Given the description of an element on the screen output the (x, y) to click on. 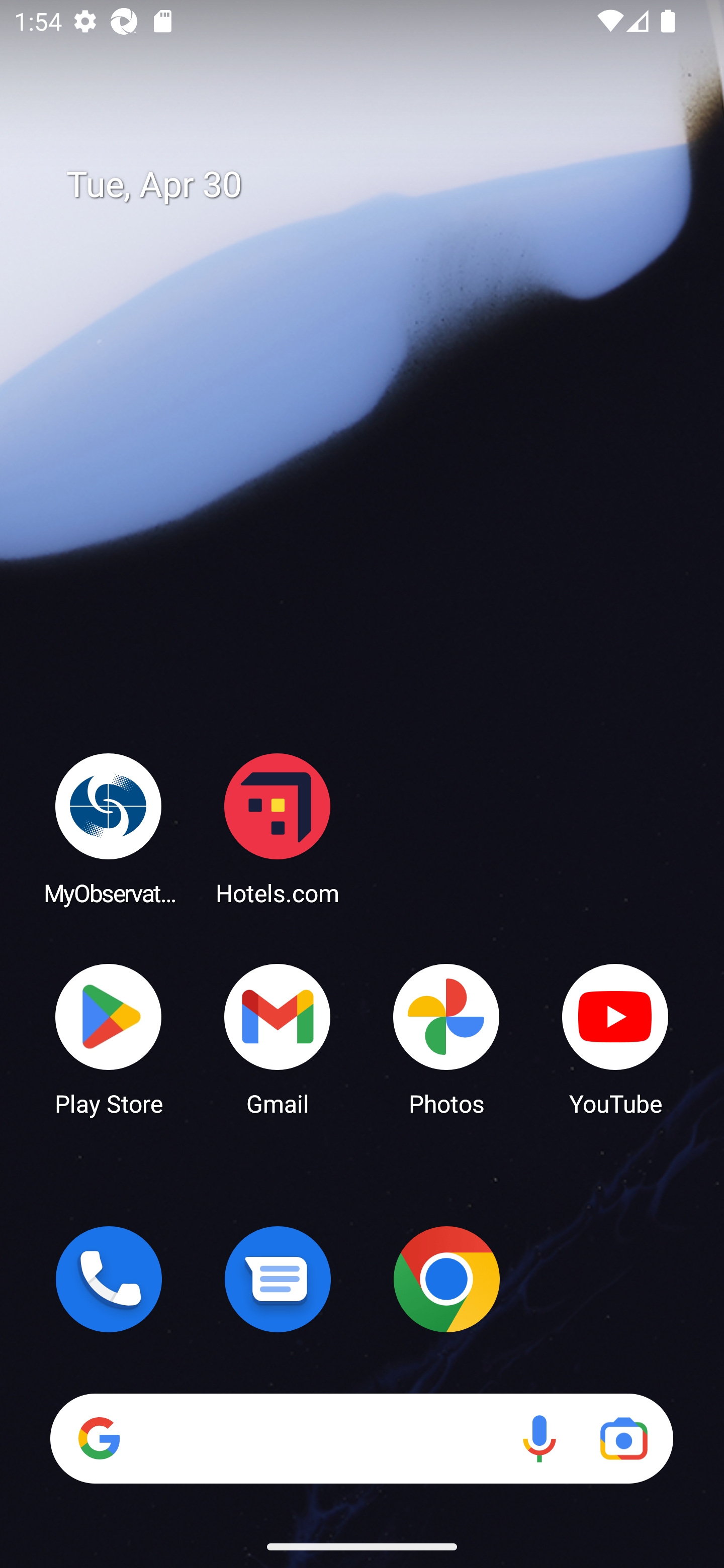
Tue, Apr 30 (375, 184)
MyObservatory (108, 828)
Hotels.com (277, 828)
Play Store (108, 1038)
Gmail (277, 1038)
Photos (445, 1038)
YouTube (615, 1038)
Phone (108, 1279)
Messages (277, 1279)
Chrome (446, 1279)
Voice search (539, 1438)
Google Lens (623, 1438)
